Given the description of an element on the screen output the (x, y) to click on. 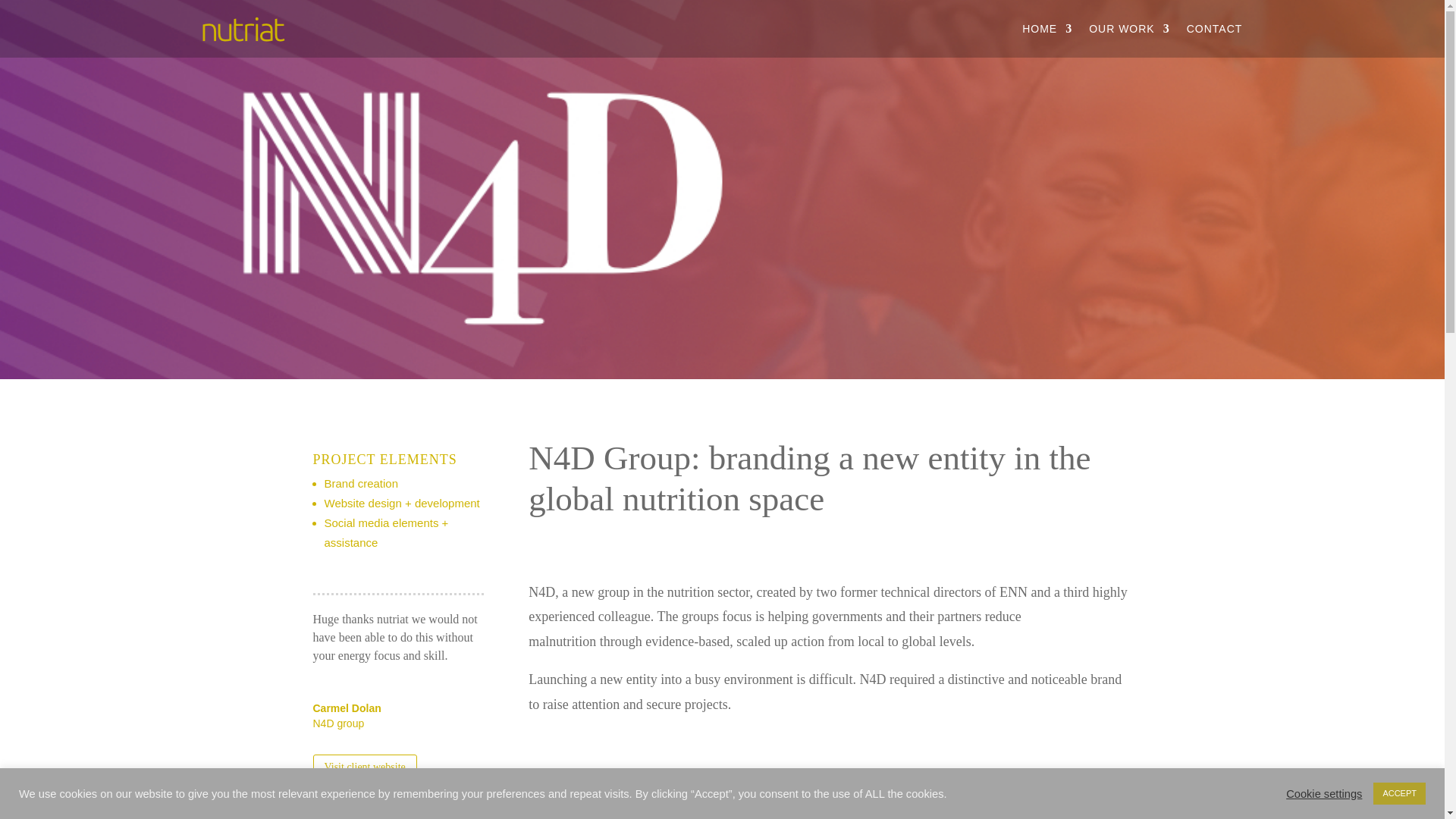
Cookie settings (1323, 793)
OUR WORK (1129, 28)
ACCEPT (1399, 793)
Visit client website (364, 767)
Kelly Sikkema (369, 811)
Unsplash (411, 811)
CONTACT (1214, 28)
